Given the description of an element on the screen output the (x, y) to click on. 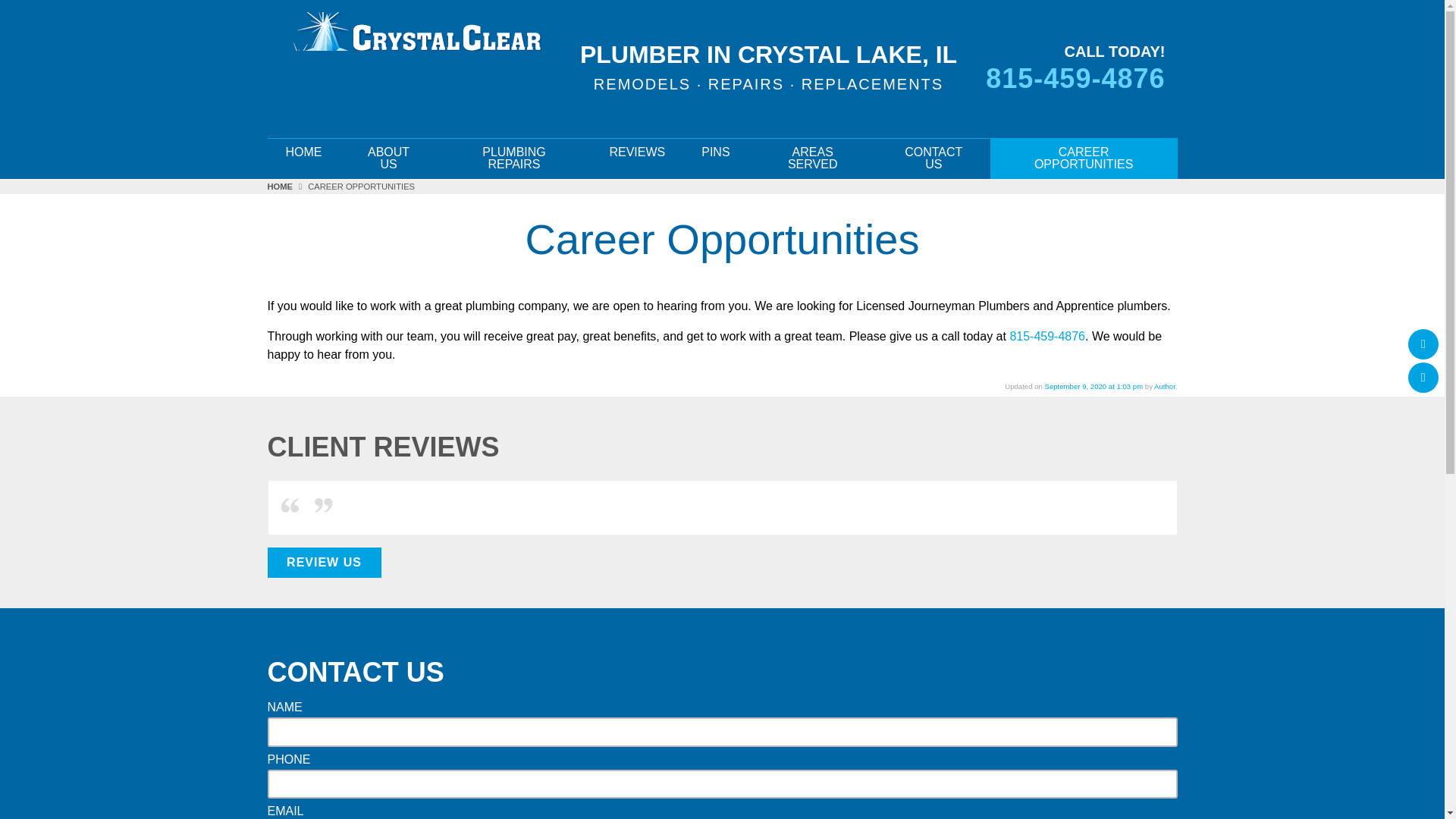
CONTACT US (933, 158)
CAREER OPPORTUNITIES (1083, 158)
HOME (286, 185)
View all posts by Author (1164, 386)
ABOUT US (387, 158)
REVIEWS (636, 152)
815-459-4876 (1066, 79)
815-459-4876 (1046, 336)
Go to Home (286, 185)
11:55 AM (1093, 386)
